Given the description of an element on the screen output the (x, y) to click on. 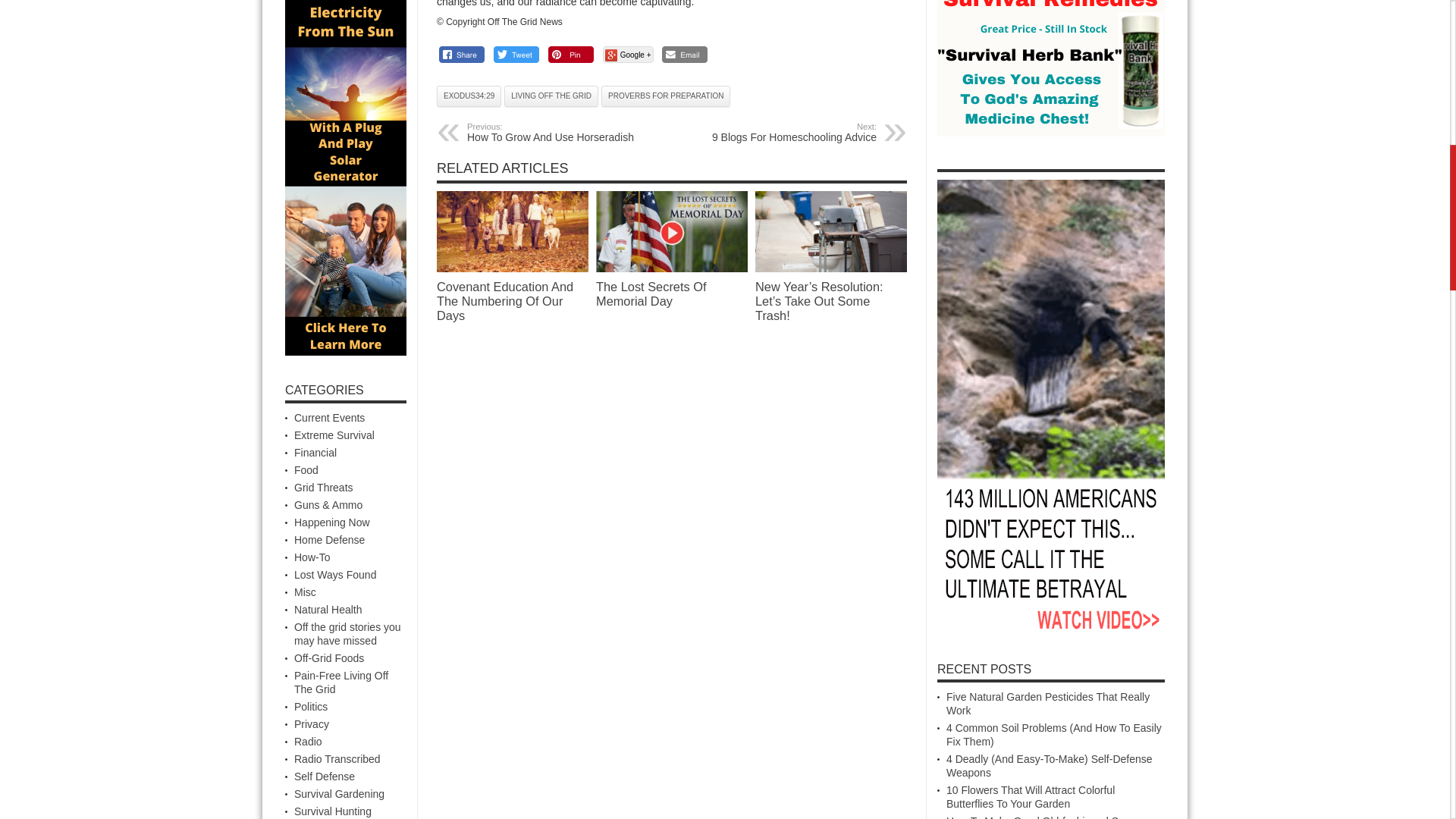
Permalink to The Lost Secrets Of Memorial Day (783, 132)
EXODUS34:29 (559, 132)
The Lost Secrets Of Memorial Day (671, 268)
Covenant Education And The Numbering Of Our Days (468, 96)
LIVING OFF THE GRID (671, 230)
PROVERBS FOR PREPARATION (504, 301)
Permalink to The Lost Secrets Of Memorial Day (550, 96)
